Given the description of an element on the screen output the (x, y) to click on. 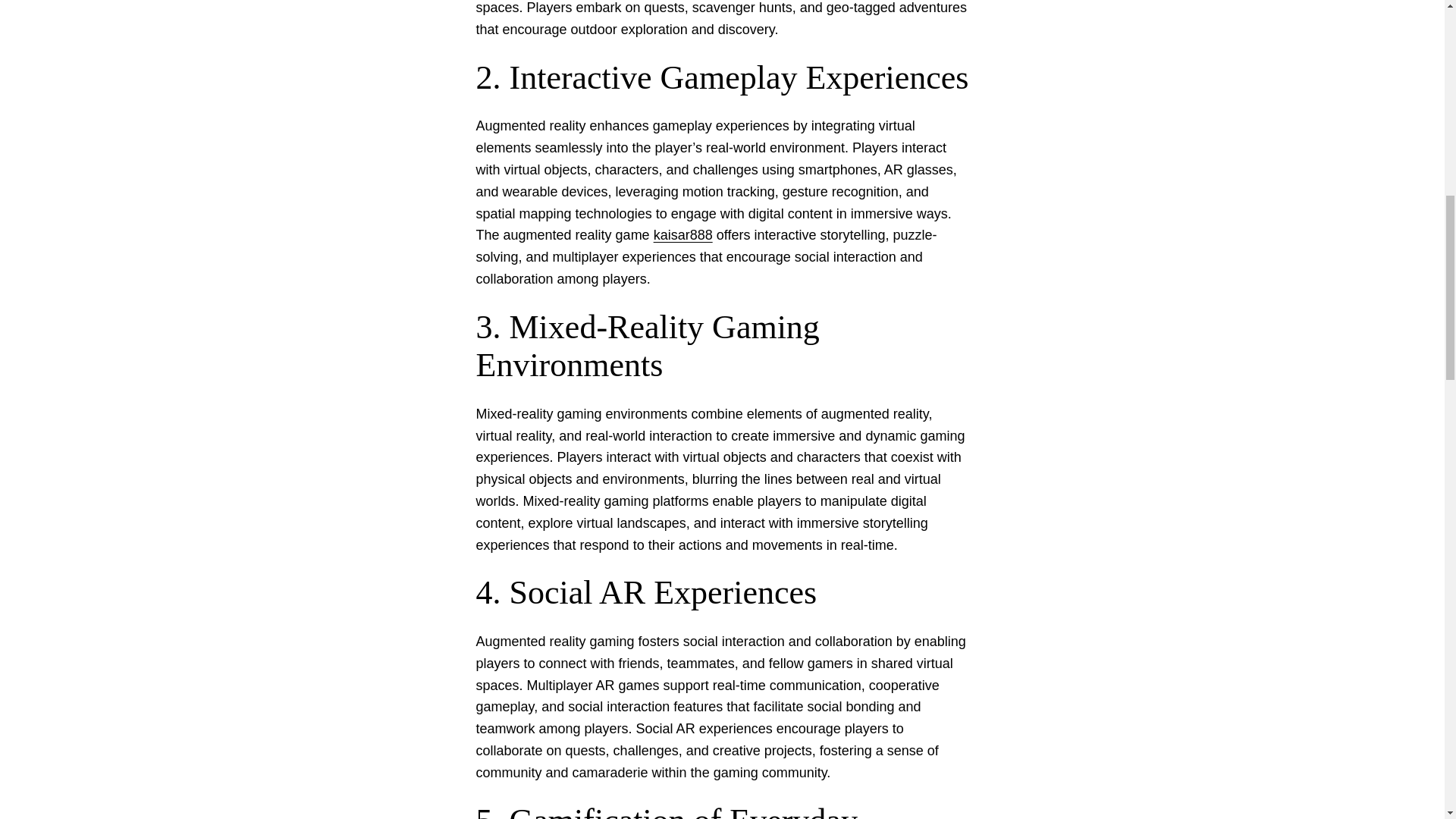
kaisar888 (683, 234)
